Given the description of an element on the screen output the (x, y) to click on. 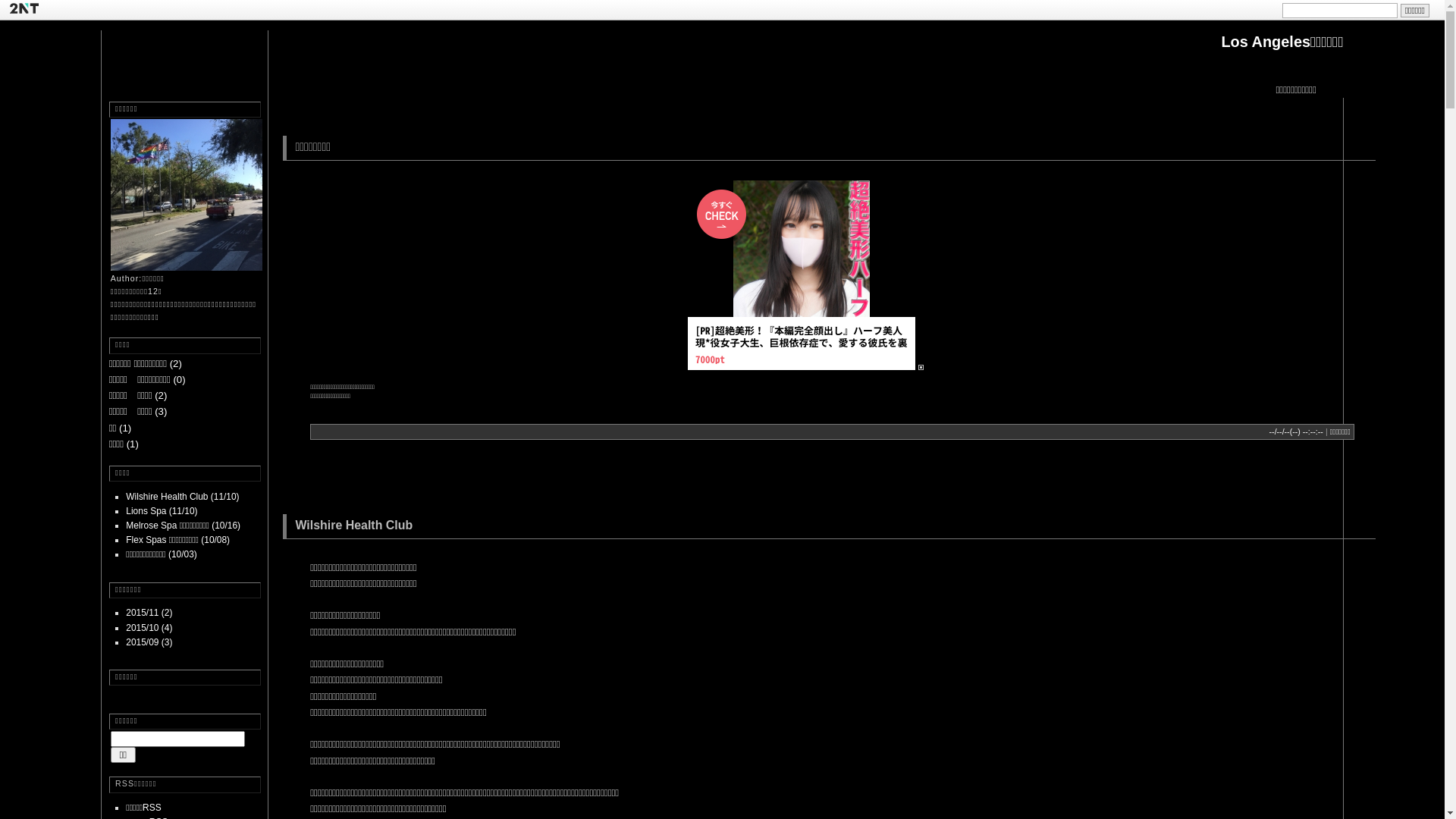
2015/11 (2) Element type: text (148, 612)
2015/09 (3) Element type: text (148, 642)
Wilshire Health Club Element type: text (353, 524)
--/--/--(--) --:--:-- Element type: text (1296, 431)
Wilshire Health Club (11/10) Element type: text (181, 496)
2015/10 (4) Element type: text (148, 627)
Lions Spa (11/10) Element type: text (161, 510)
